Given the description of an element on the screen output the (x, y) to click on. 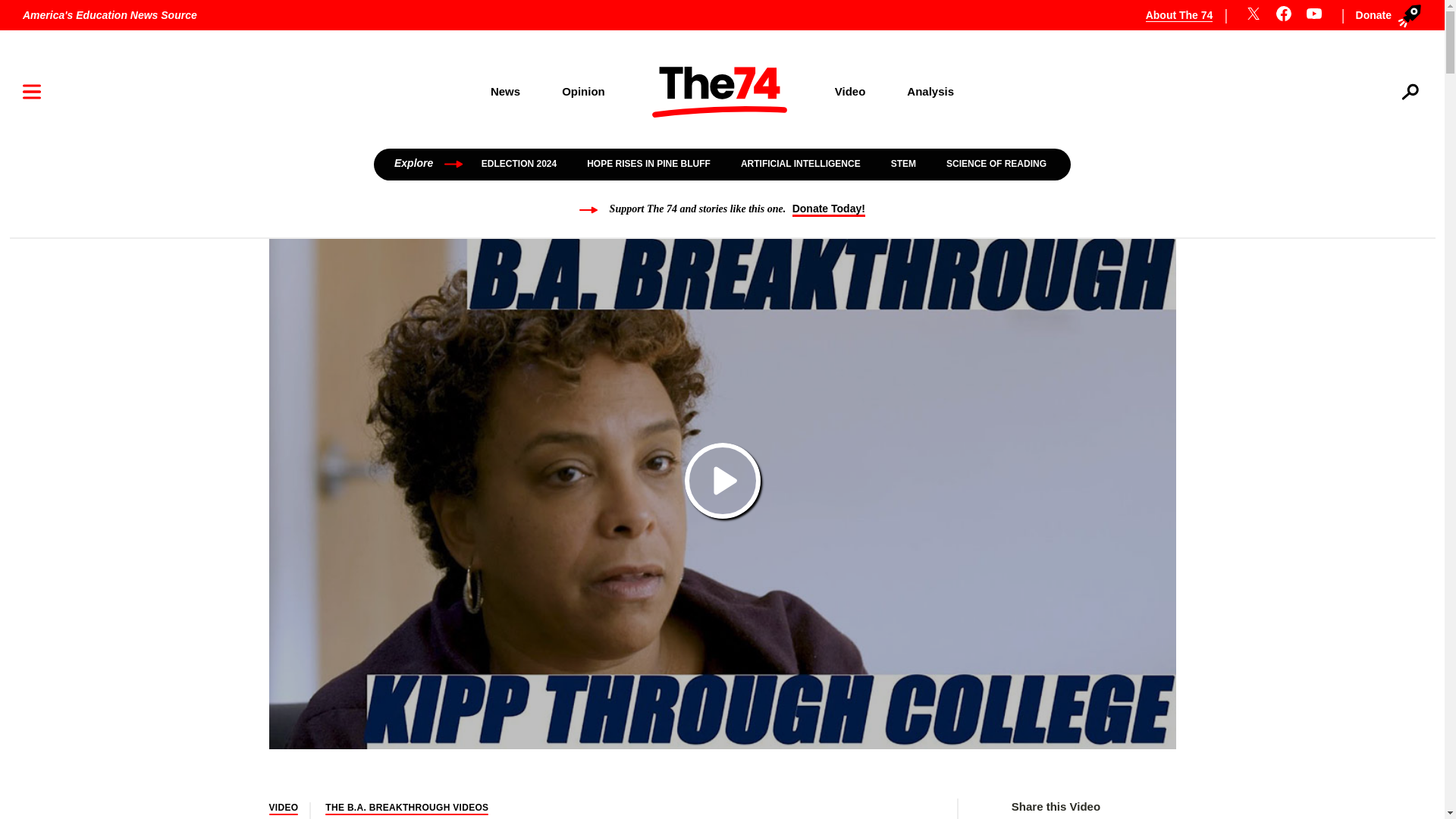
Home (719, 91)
News (504, 91)
Submit (1389, 139)
Opinion (583, 91)
About The 74 (1187, 15)
Video (849, 91)
America's Education News Source (109, 15)
Donate (1385, 15)
Analysis (930, 91)
